Given the description of an element on the screen output the (x, y) to click on. 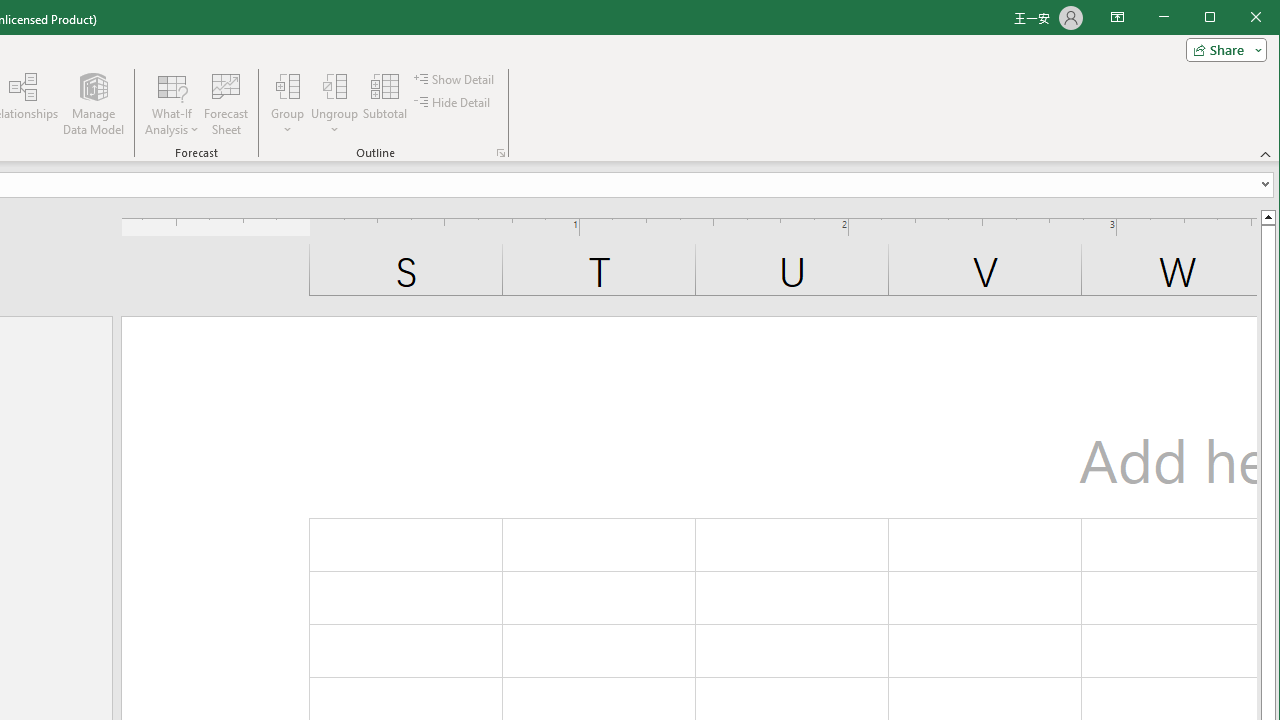
Ribbon Display Options (1117, 17)
Minimize (1216, 18)
Line up (1268, 216)
Hide Detail (452, 101)
Show Detail (454, 78)
